Given the description of an element on the screen output the (x, y) to click on. 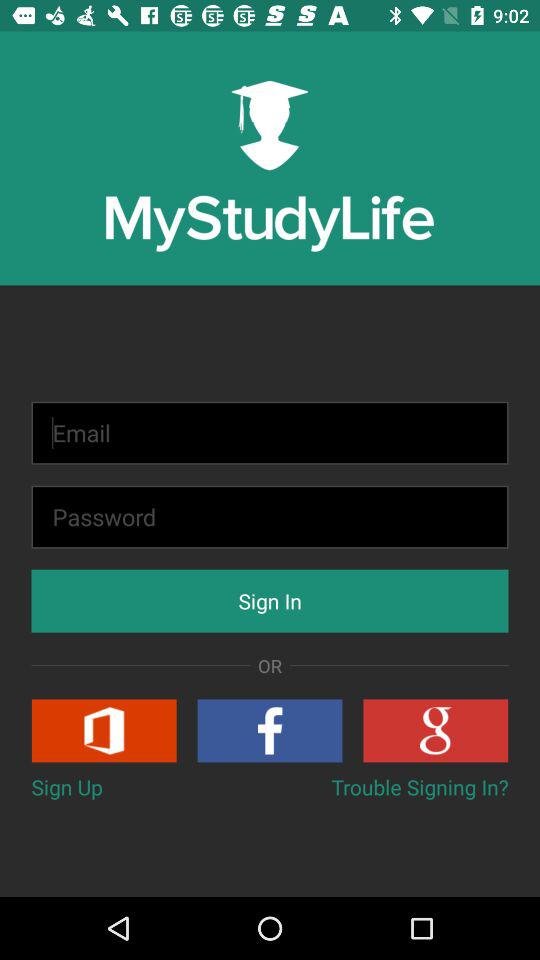
flip until the sign up (66, 786)
